Given the description of an element on the screen output the (x, y) to click on. 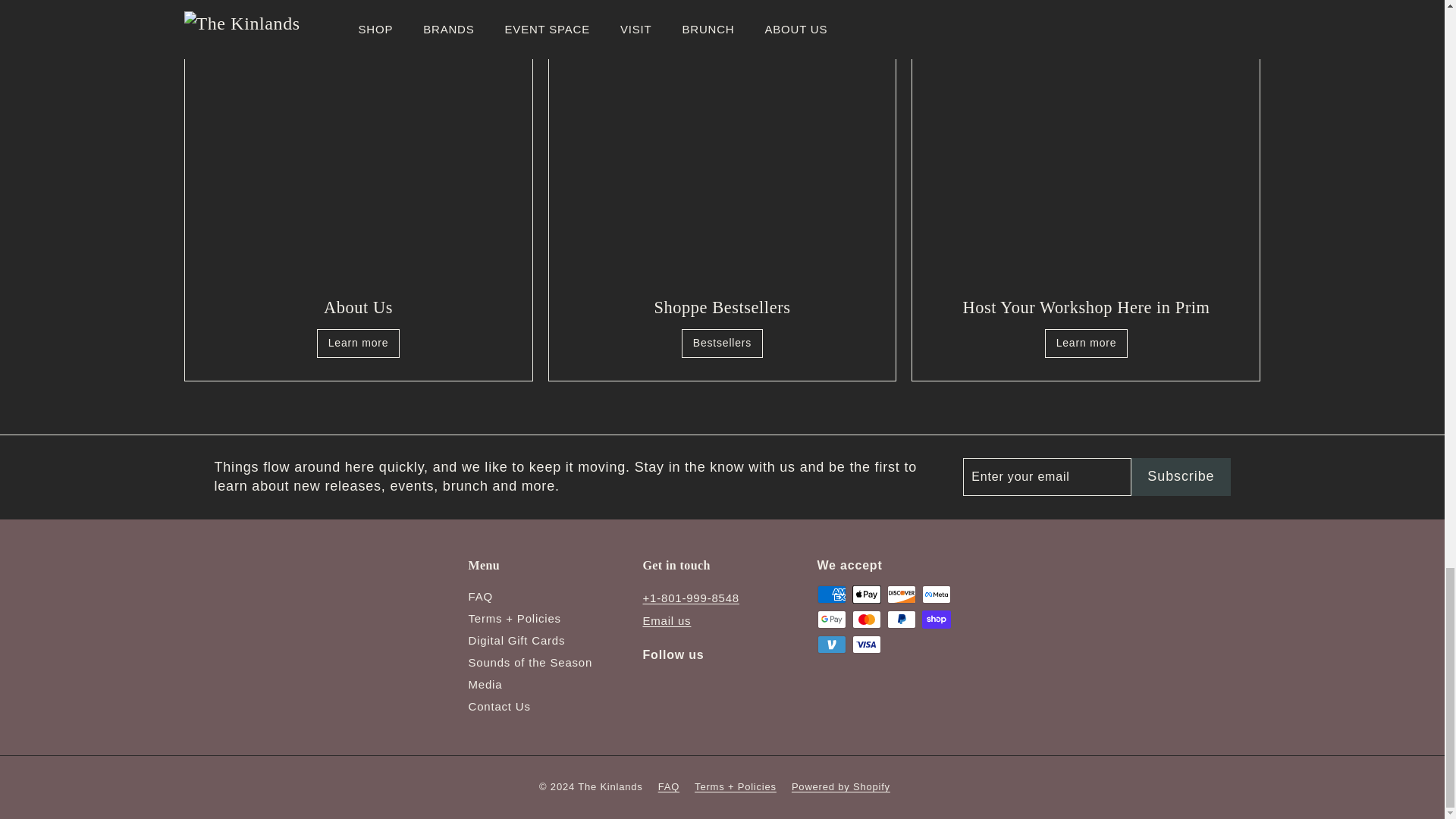
PayPal (900, 619)
Shop Pay (935, 619)
Discover (900, 594)
American Express (830, 594)
Meta Pay (935, 594)
Visa (865, 644)
Google Pay (830, 619)
Mastercard (865, 619)
Venmo (830, 644)
Apple Pay (865, 594)
